Given the description of an element on the screen output the (x, y) to click on. 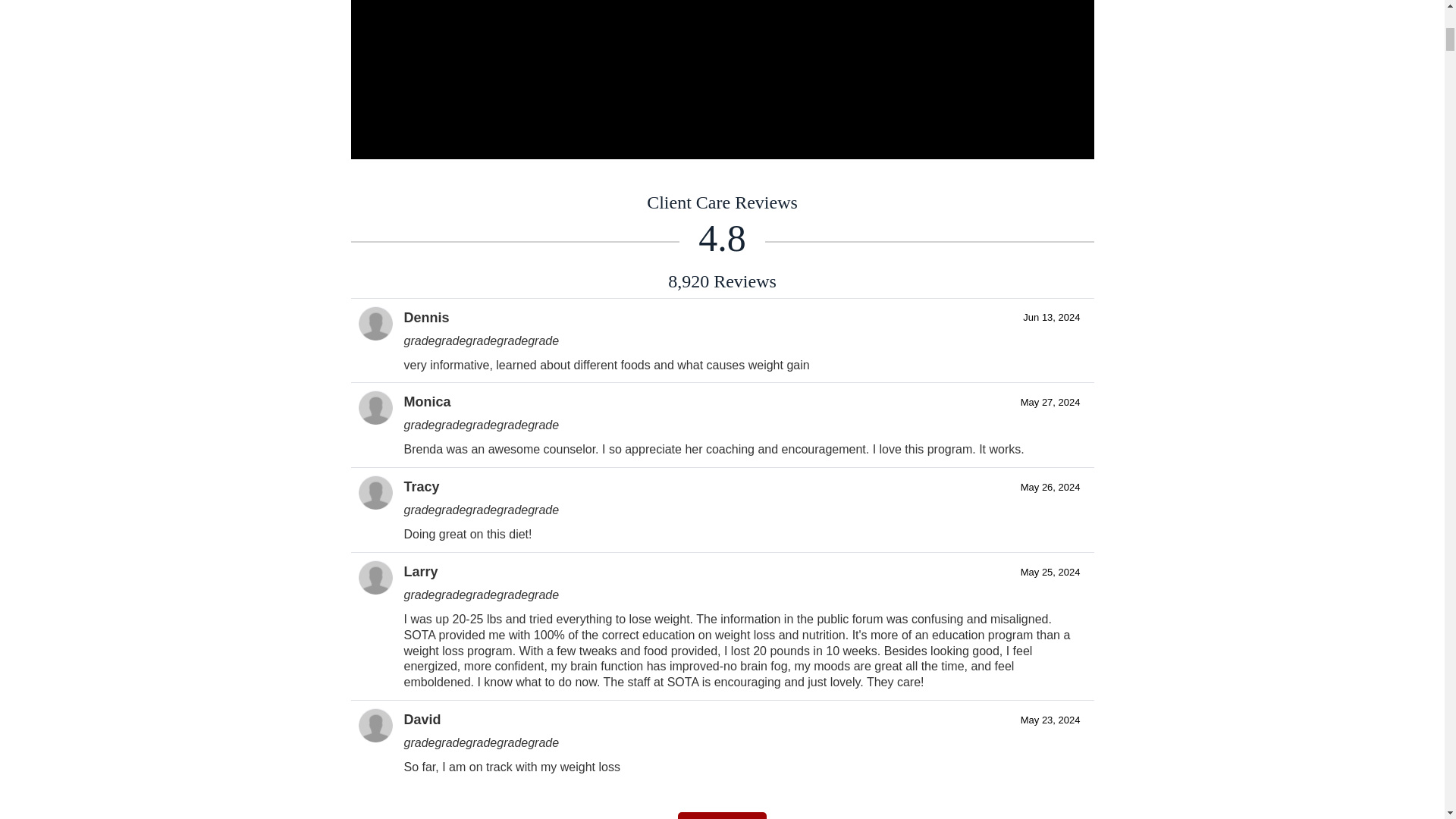
Load More (722, 815)
vimeo Video Player (721, 79)
